Given the description of an element on the screen output the (x, y) to click on. 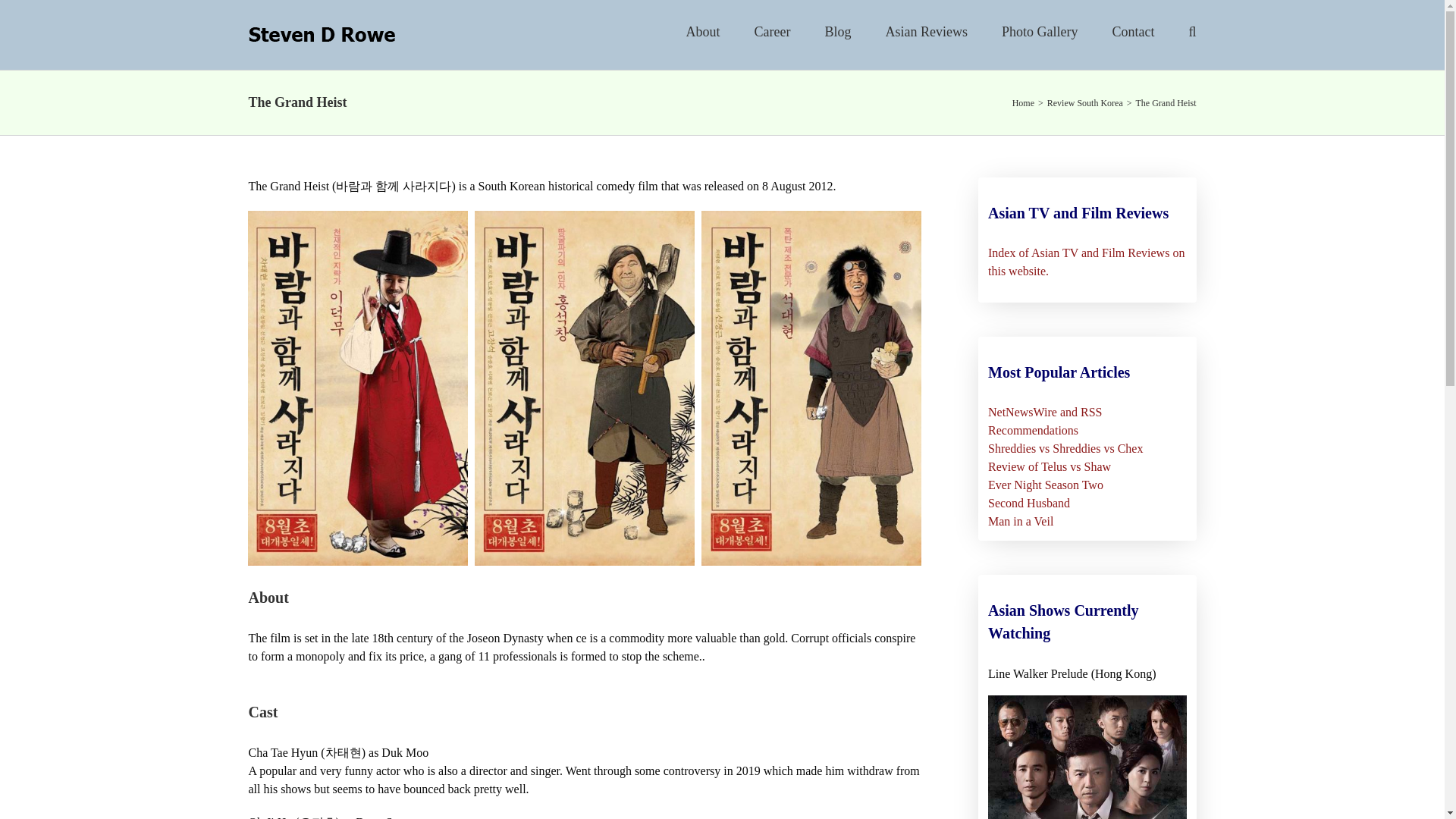
Asian Reviews (926, 31)
Photo Gallery (1039, 31)
Home (1022, 102)
Review South Korea (1084, 102)
Photo Gallery (1039, 31)
Asian Reviews (926, 31)
